Given the description of an element on the screen output the (x, y) to click on. 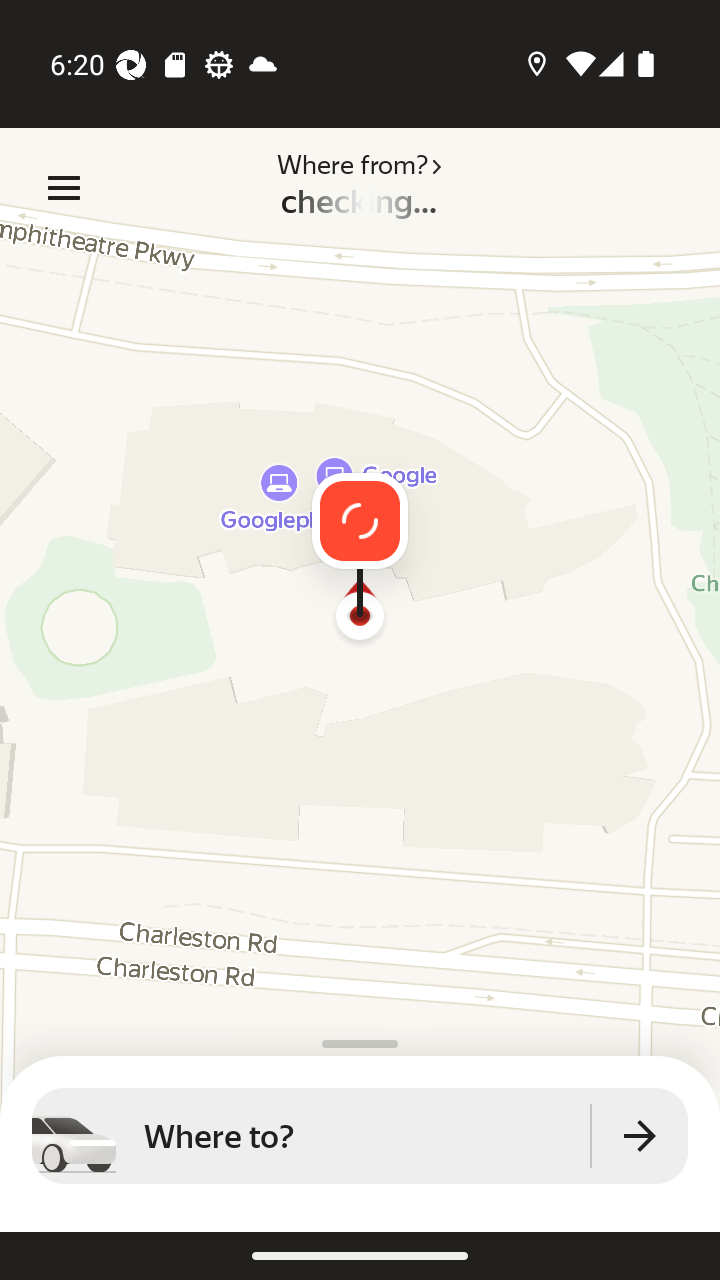
Menu Menu Menu (64, 188)
Where to? Where to? To the choice of address (359, 1136)
To the choice of address (639, 1136)
